Given the description of an element on the screen output the (x, y) to click on. 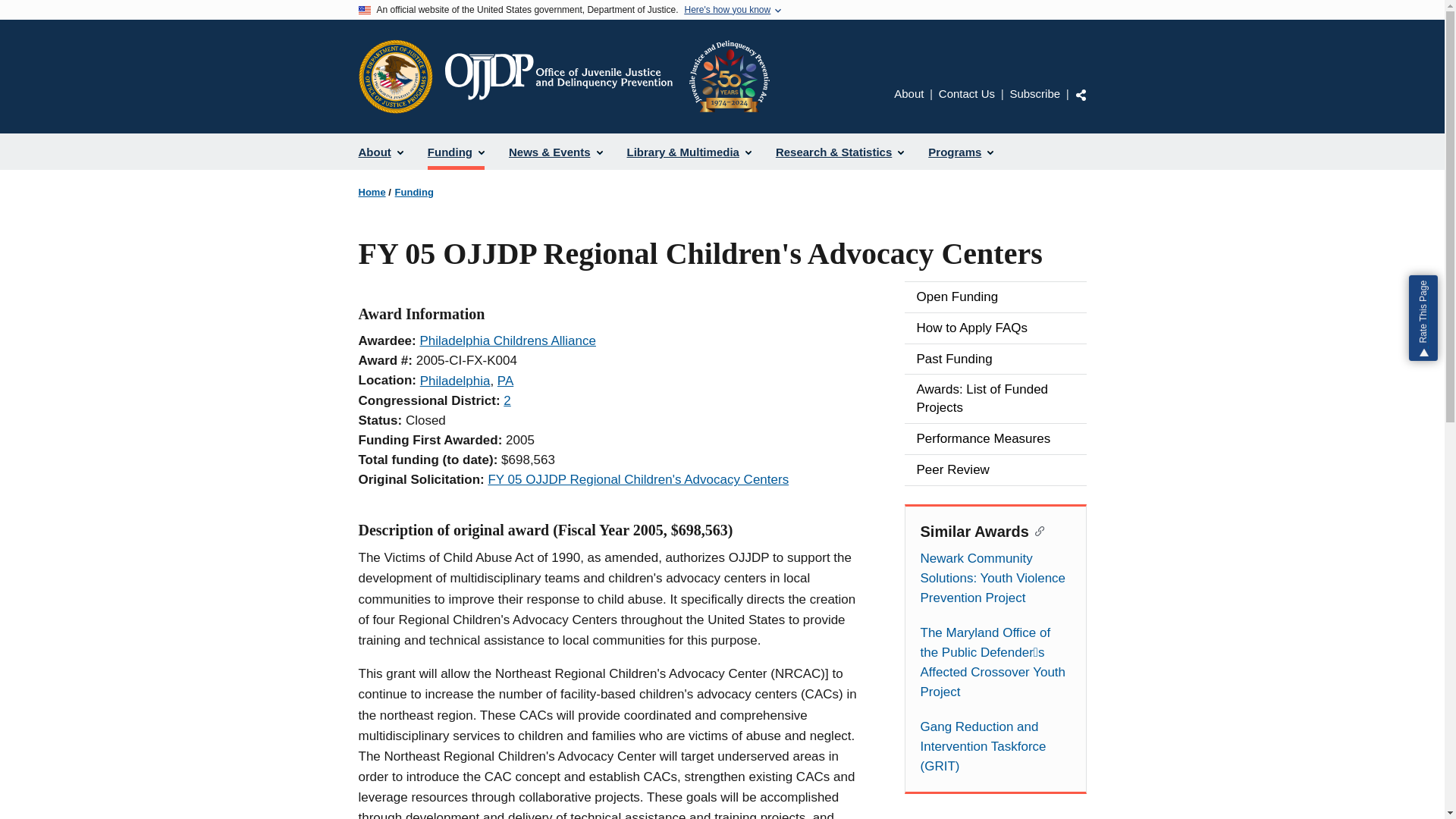
Performance Measures (995, 439)
Open Funding (995, 296)
Funding (413, 192)
Home (371, 192)
How to Apply FAQs (995, 327)
Peer Review (995, 470)
Philadelphia Childrens Alliance (507, 340)
FY 05 OJJDP Regional Children's Advocacy Centers (638, 479)
About (380, 151)
Programs (960, 151)
Office of Justice Programs (395, 76)
Subscribe (1034, 93)
Home (606, 76)
